Given the description of an element on the screen output the (x, y) to click on. 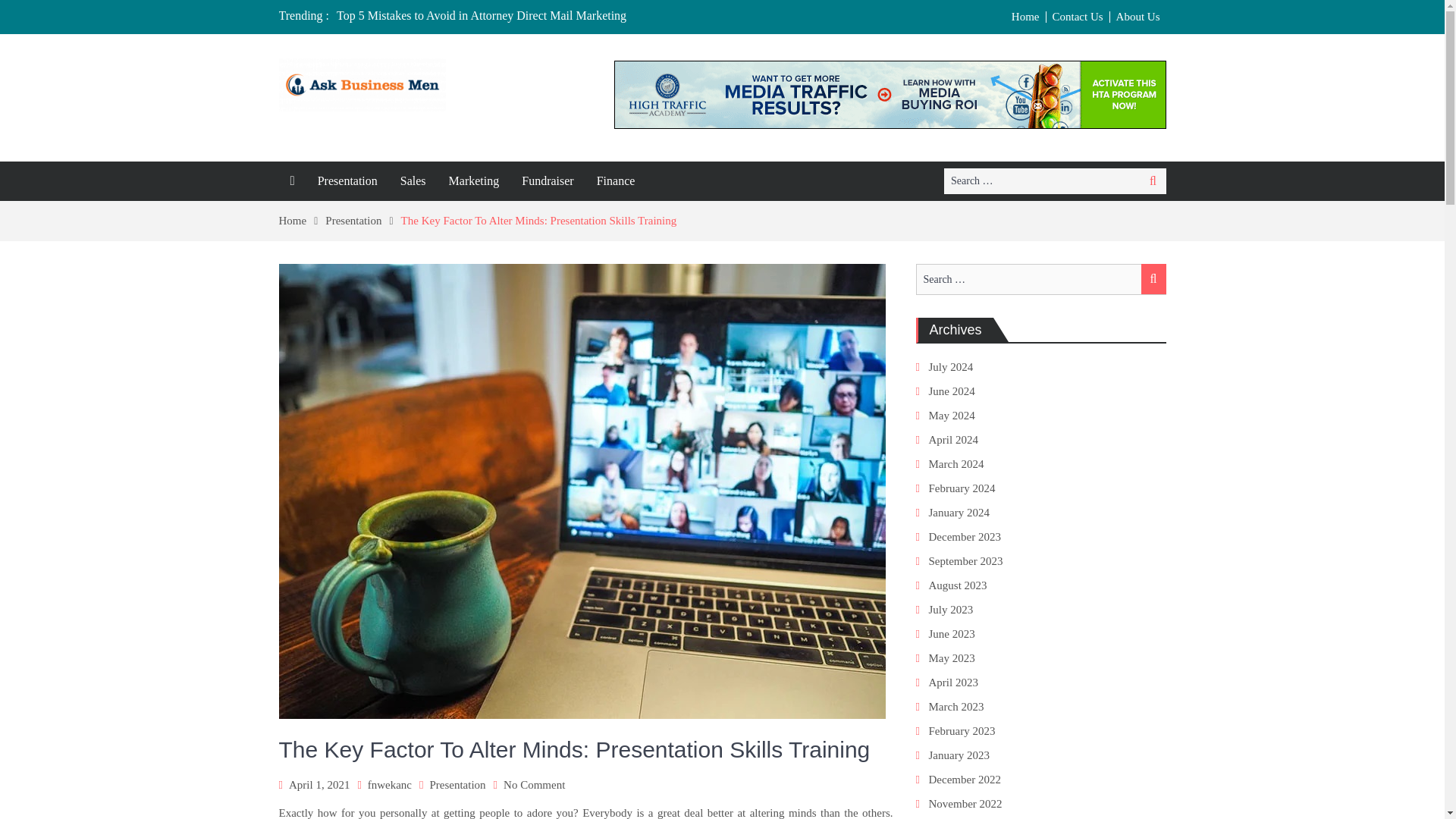
Marketing (474, 179)
Fundraiser (548, 179)
Sales (413, 179)
Home (302, 219)
April 1, 2021 (318, 784)
Presentation (346, 179)
Top 5 Mistakes to Avoid in Attorney Direct Mail Marketing (481, 15)
Contact Us (1077, 16)
fnwekanc (390, 784)
